Given the description of an element on the screen output the (x, y) to click on. 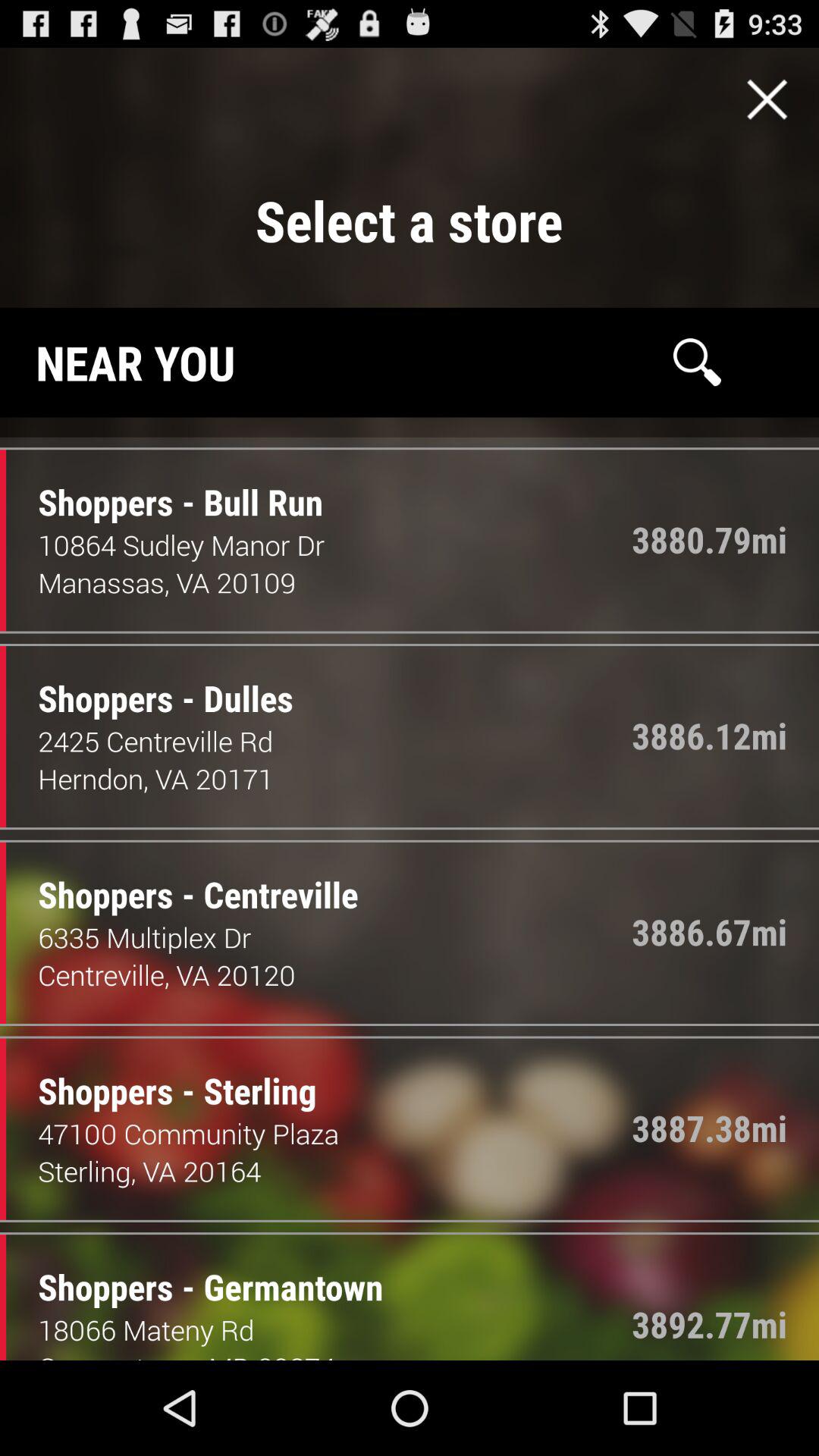
flip to 2425 centreville rd item (334, 740)
